Given the description of an element on the screen output the (x, y) to click on. 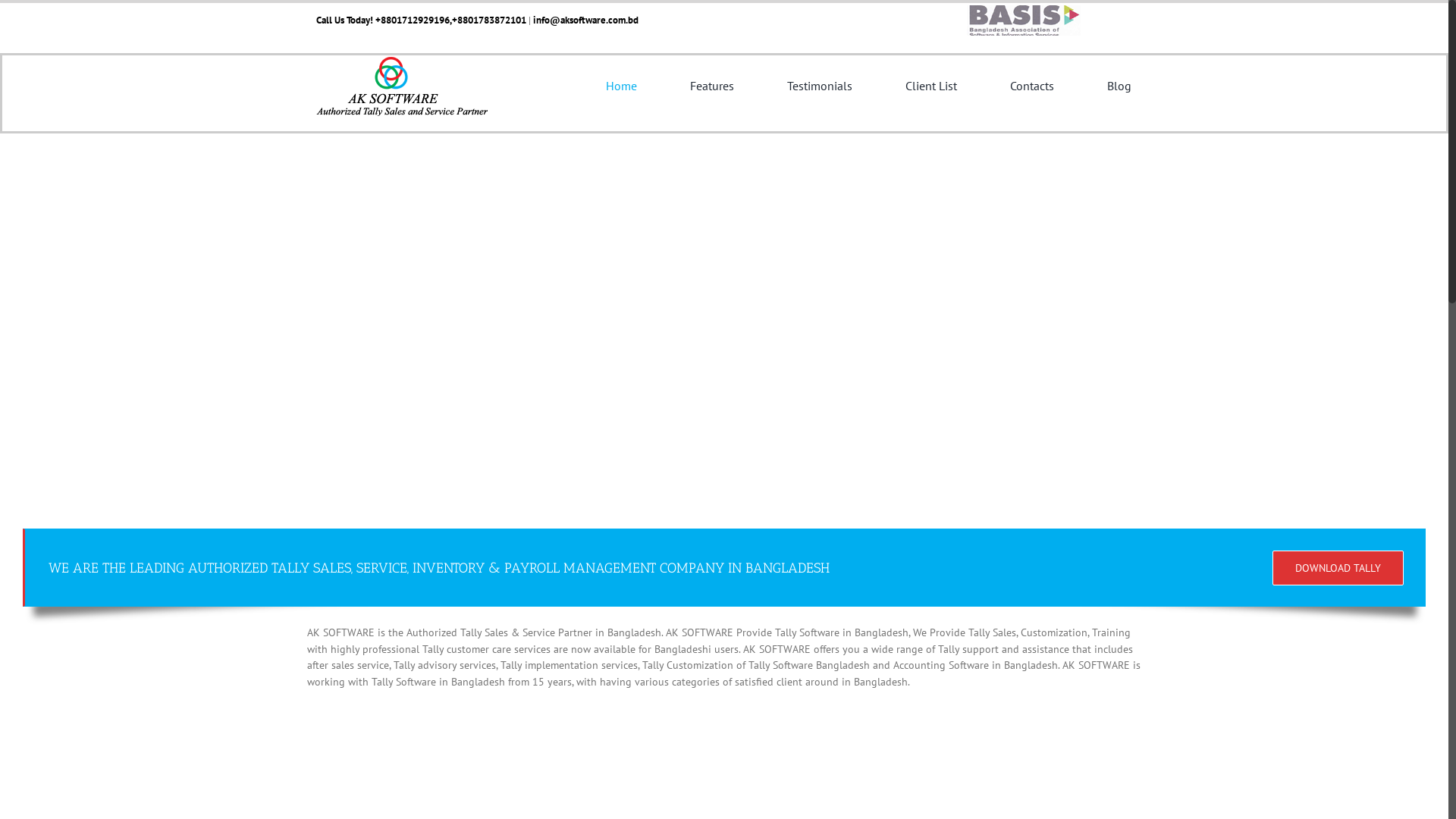
Testimonials Element type: text (819, 85)
Client List Element type: text (931, 85)
Contacts Element type: text (1032, 85)
info@aksoftware.com.bd Element type: text (585, 19)
DOWNLOAD TALLY Element type: text (1337, 567)
Home Element type: text (621, 85)
Blog Element type: text (1119, 85)
Features Element type: text (712, 85)
